Given the description of an element on the screen output the (x, y) to click on. 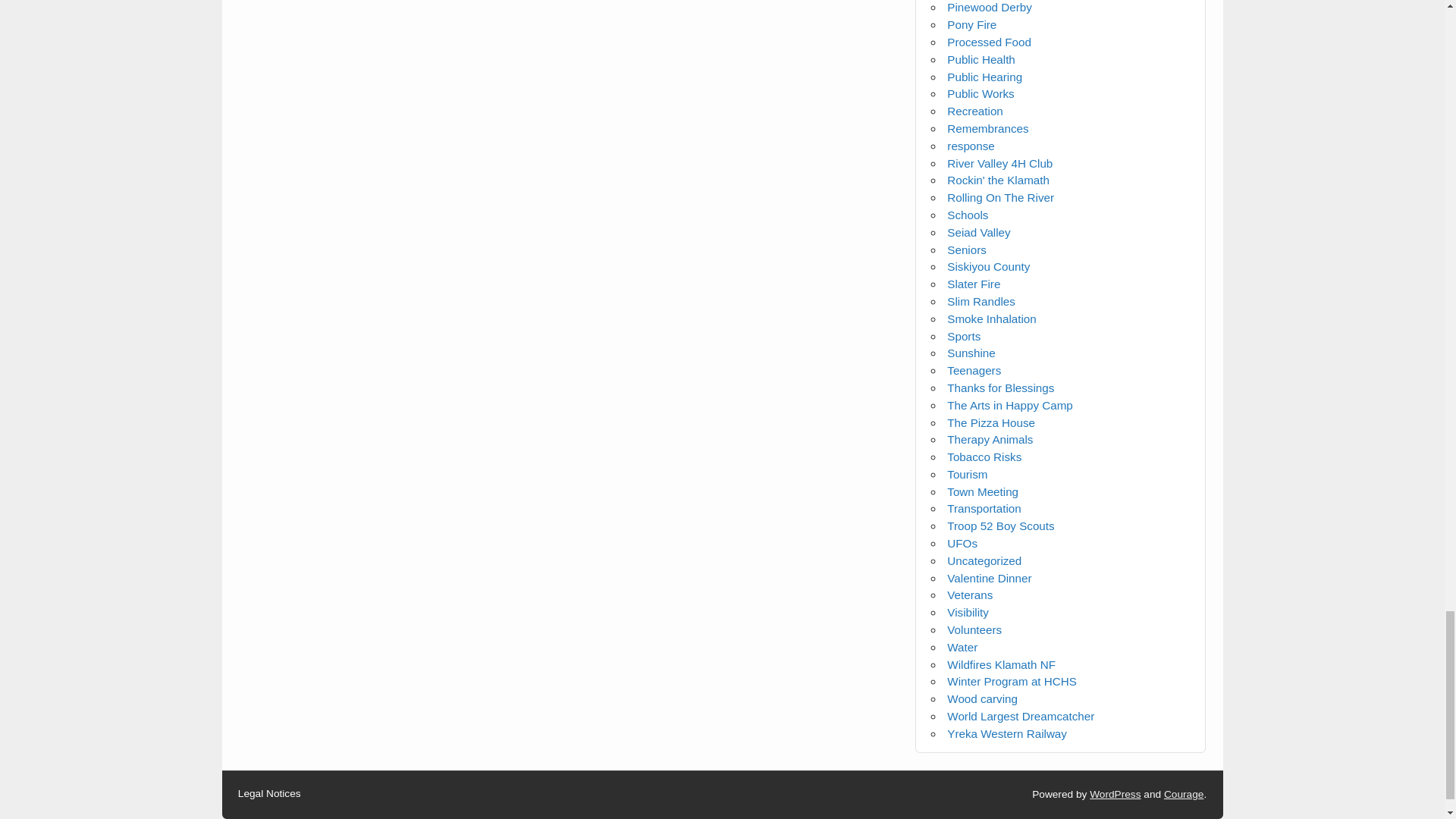
WordPress (1114, 794)
Courage WordPress Theme (1183, 794)
